Given the description of an element on the screen output the (x, y) to click on. 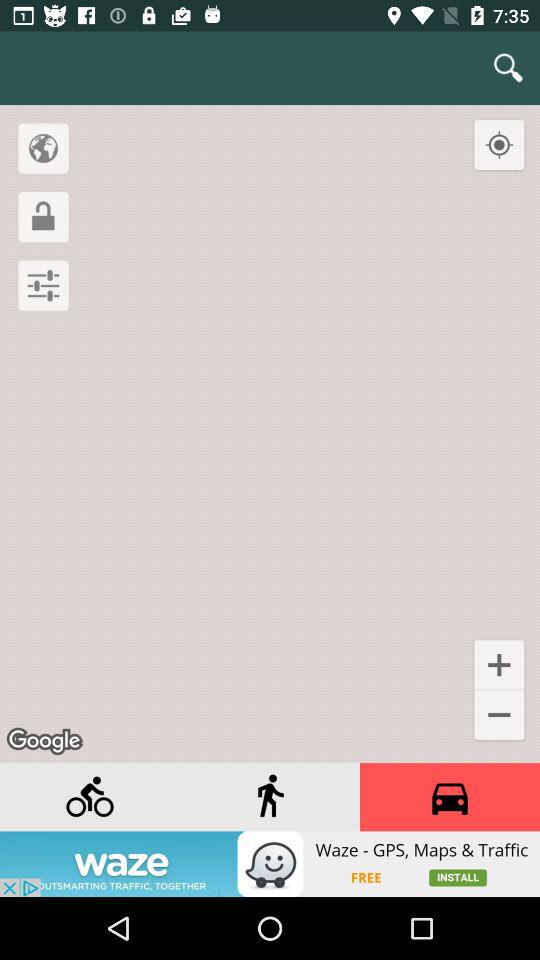
search button (508, 67)
